Given the description of an element on the screen output the (x, y) to click on. 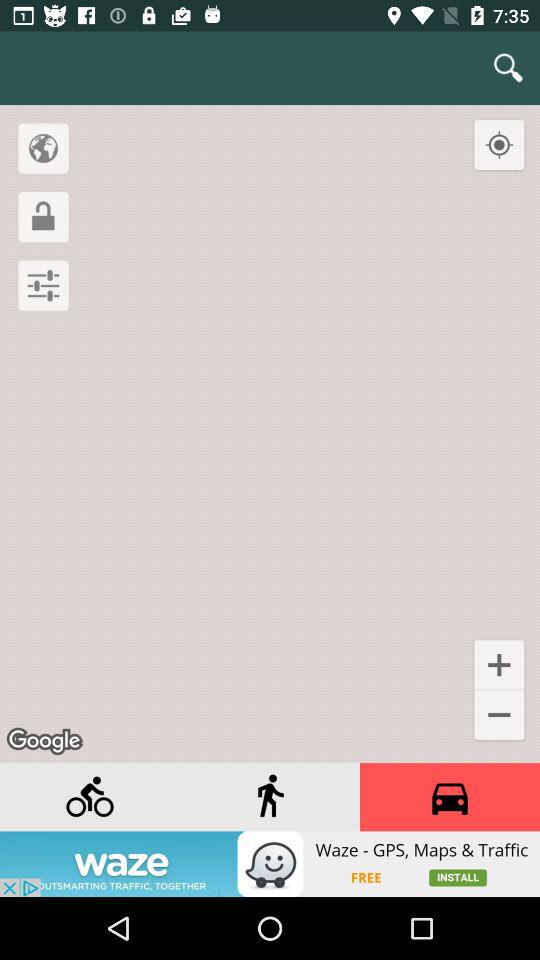
search button (508, 67)
